Given the description of an element on the screen output the (x, y) to click on. 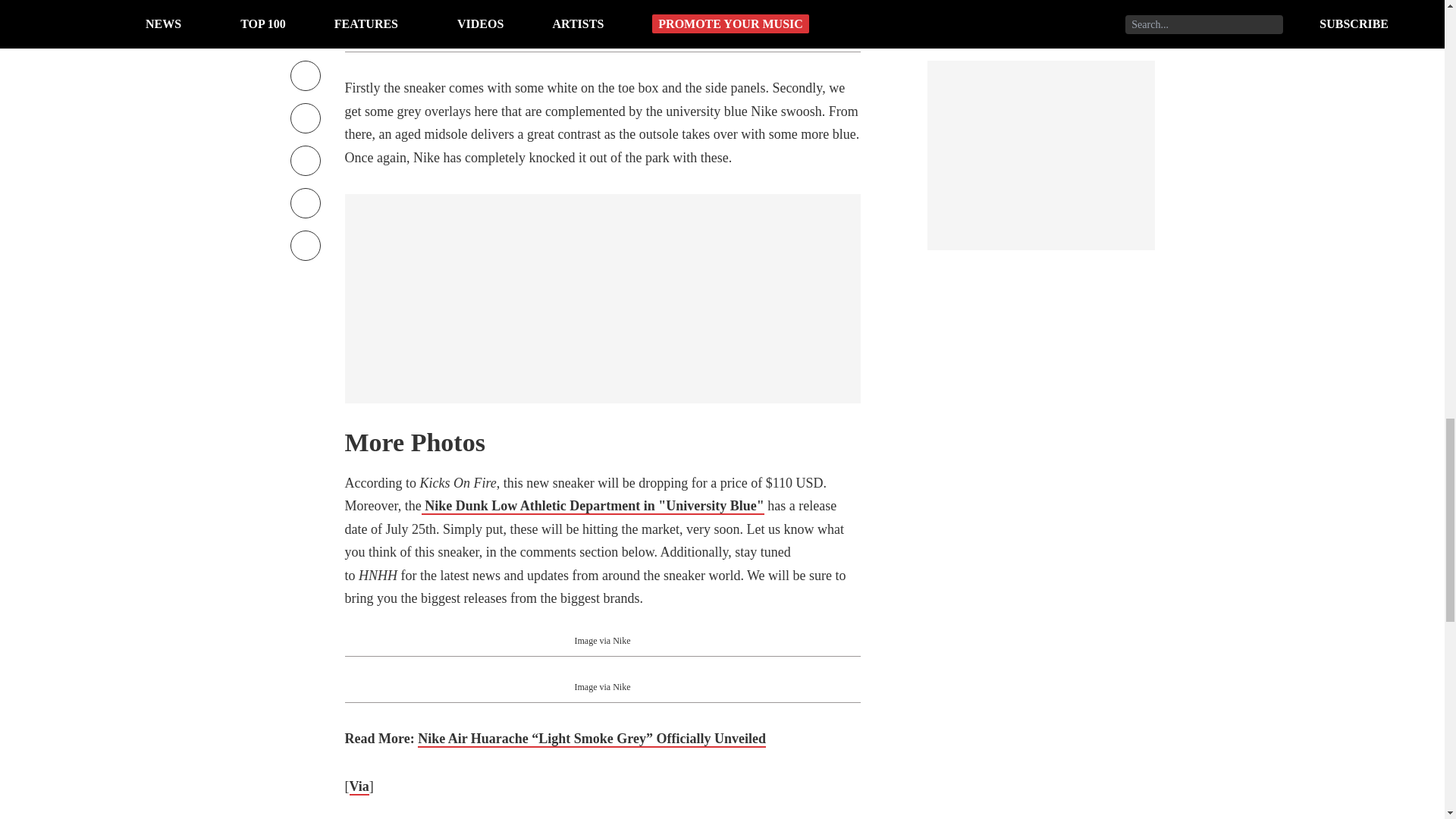
Nike Dunk Low Athletic Department in "University Blue" (593, 506)
Via (358, 786)
